Given the description of an element on the screen output the (x, y) to click on. 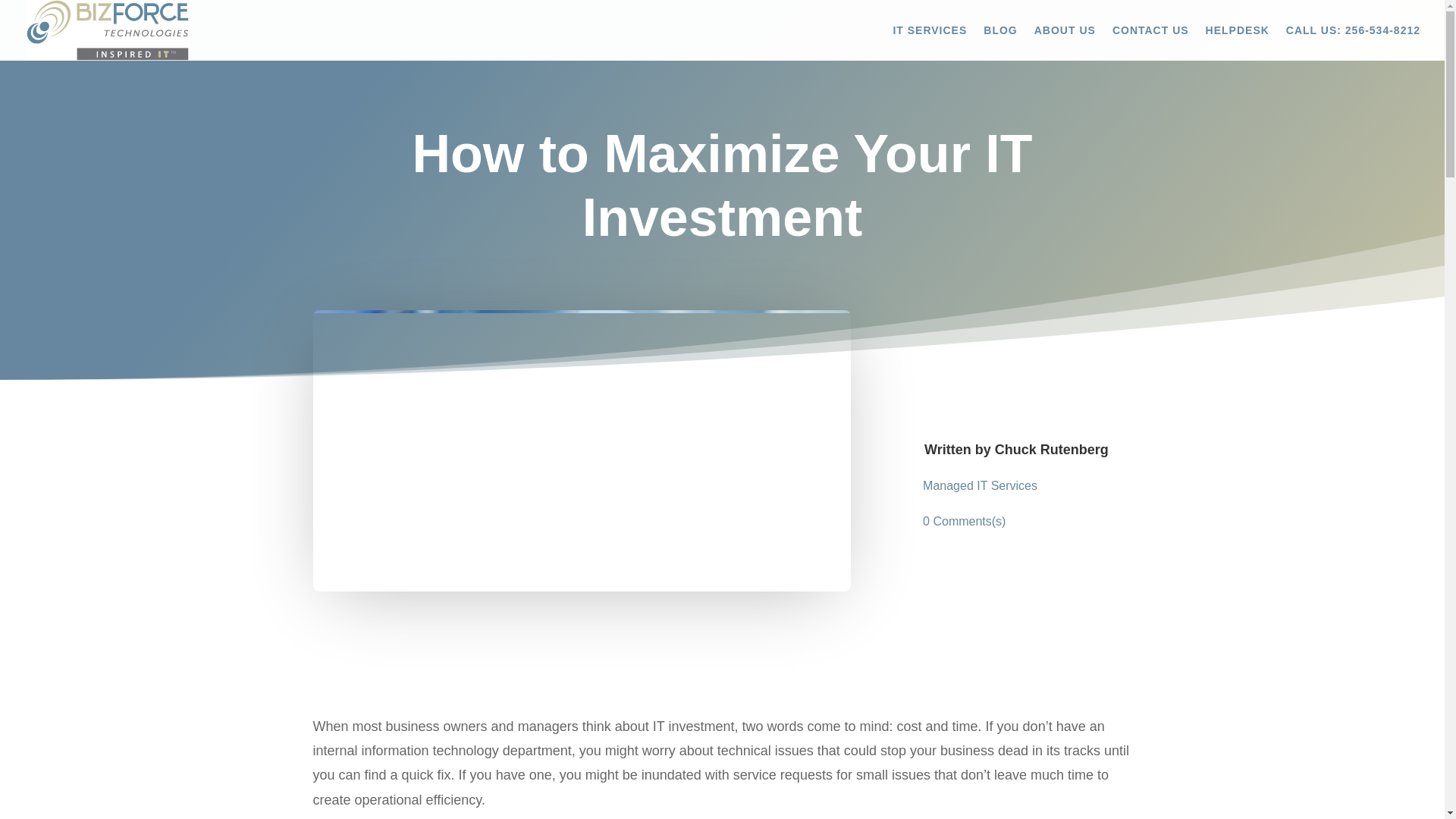
Chuck Rutenberg (1051, 449)
ABOUT US (1064, 42)
Managed IT Services (979, 485)
CALL US: 256-534-8212 (1353, 42)
HELPDESK (1237, 42)
IT SERVICES (929, 42)
BLOG (1000, 42)
CONTACT US (1150, 42)
